Given the description of an element on the screen output the (x, y) to click on. 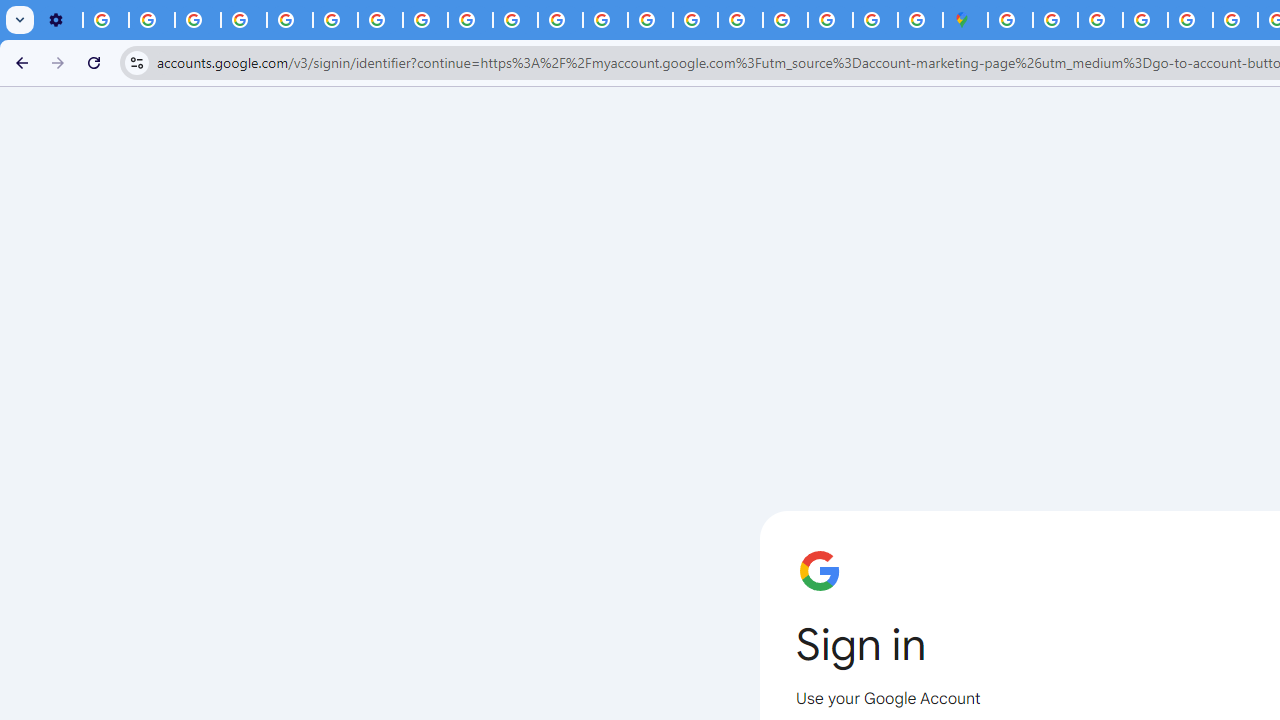
View site information (136, 62)
Privacy Checkup (470, 20)
Privacy Help Center - Policies Help (290, 20)
Settings - Customize profile (60, 20)
Privacy Help Center - Policies Help (605, 20)
https://scholar.google.com/ (559, 20)
Google Account Help (244, 20)
Sign in - Google Accounts (784, 20)
Reload (93, 62)
